Given the description of an element on the screen output the (x, y) to click on. 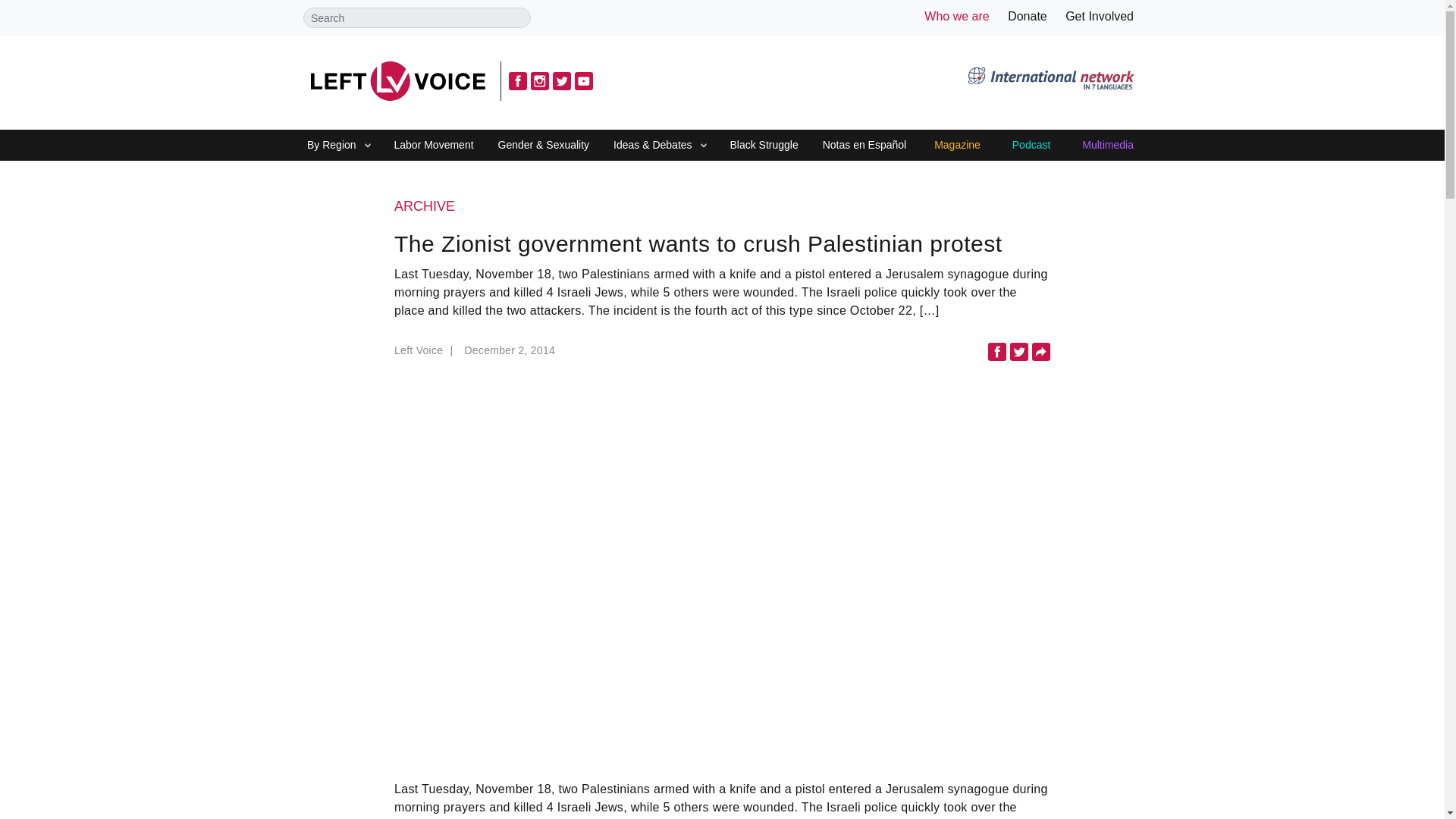
Left Voice (397, 80)
Labor Movement (433, 145)
Donate (1027, 15)
ARCHIVE (721, 207)
Left Voice (425, 354)
Black Struggle (763, 145)
Get Involved (1099, 15)
International Network (1050, 80)
Magazine (957, 145)
Who we are (956, 15)
